Given the description of an element on the screen output the (x, y) to click on. 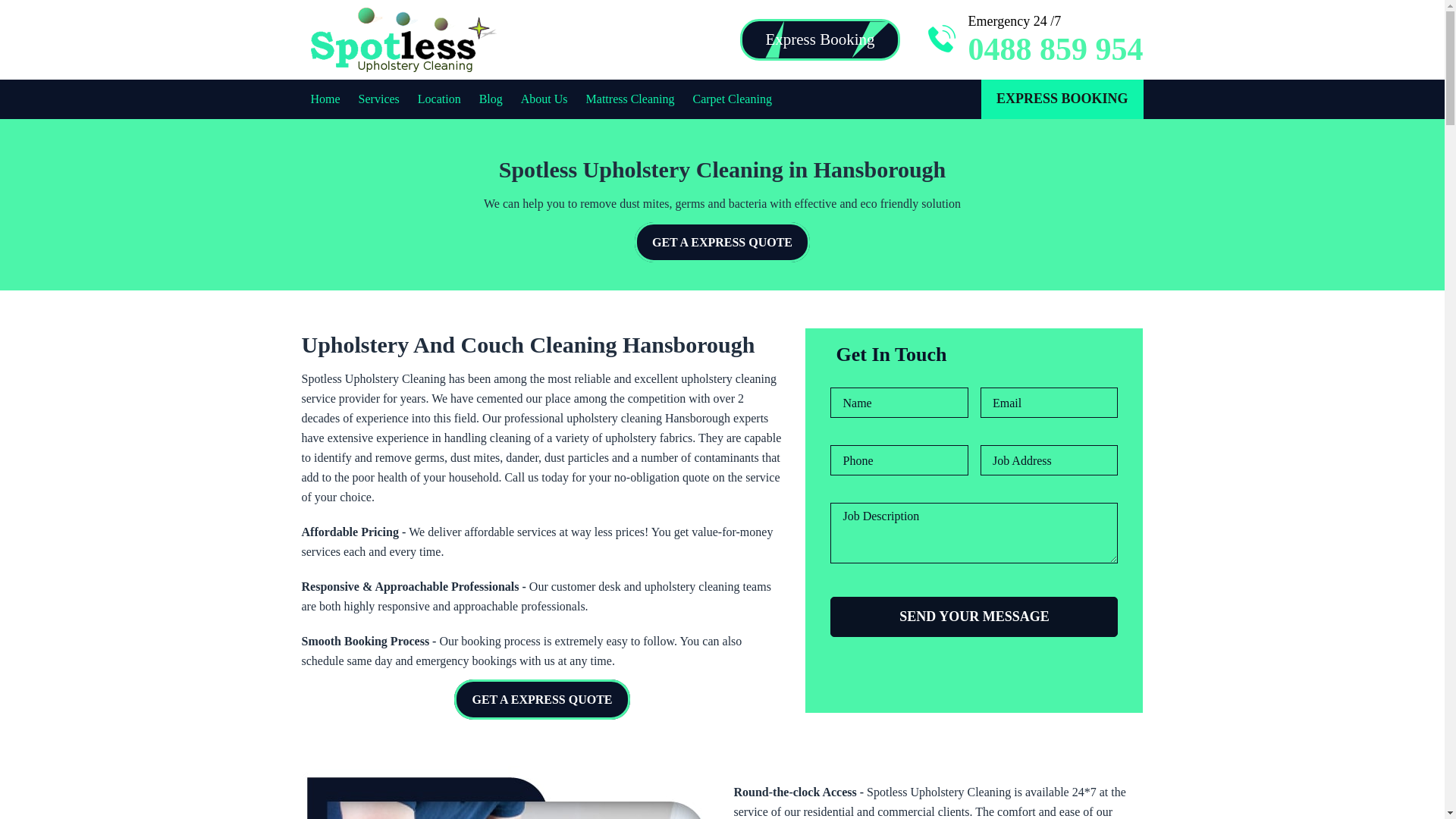
Carpet Cleaning (732, 98)
Services (378, 98)
Send Your Message (973, 617)
Service Locations (439, 98)
Home (325, 98)
Express Booking (819, 38)
EXPRESS BOOKING (1061, 98)
Mattress Cleaning (630, 98)
About Us (544, 98)
GET A EXPRESS QUOTE (721, 241)
Location (439, 98)
Blog (490, 98)
Send Your Message (973, 617)
GET A EXPRESS QUOTE (541, 699)
